Given the description of an element on the screen output the (x, y) to click on. 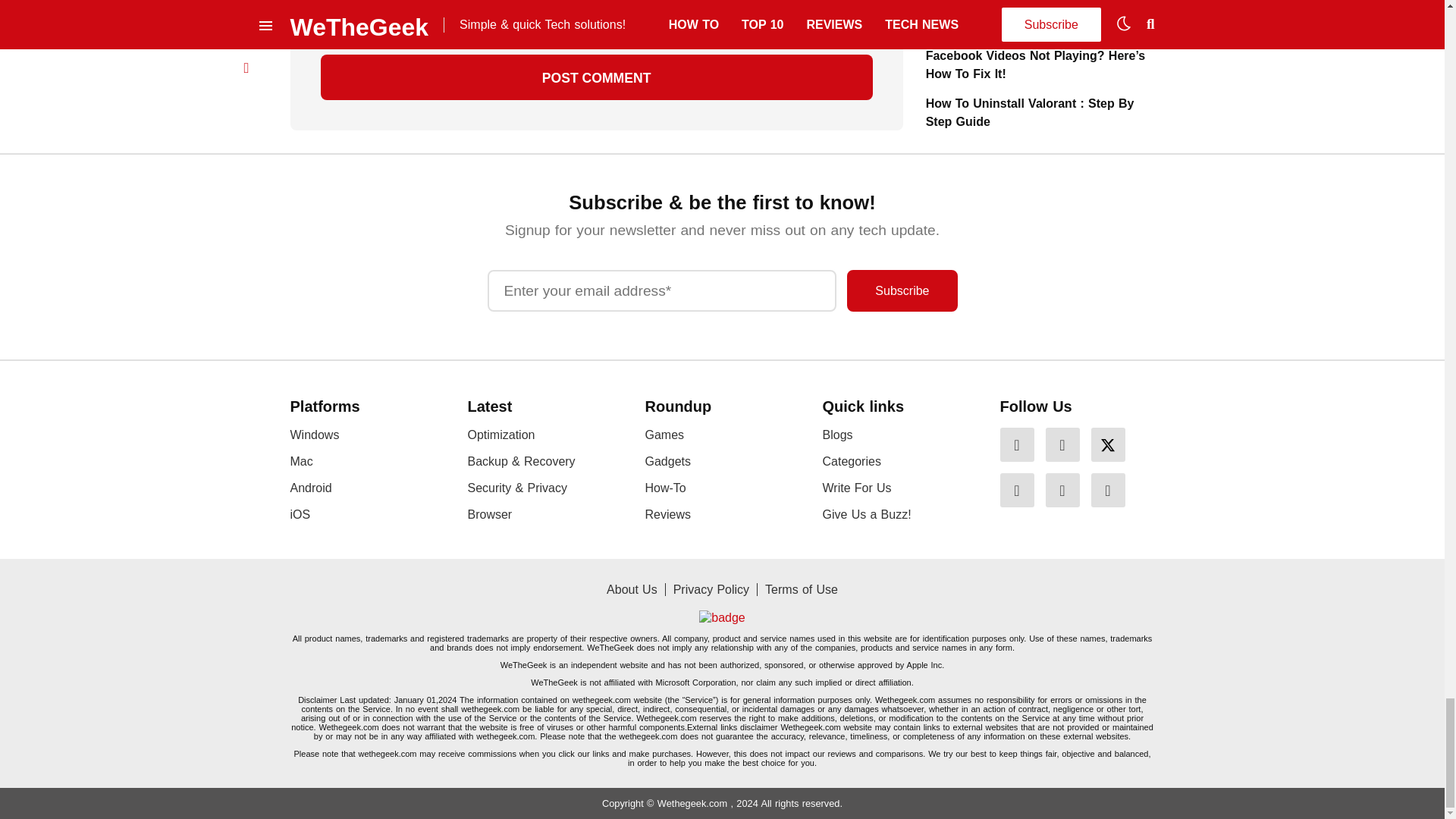
Post Comment (596, 76)
Subscribe (901, 291)
yes (325, 21)
